Given the description of an element on the screen output the (x, y) to click on. 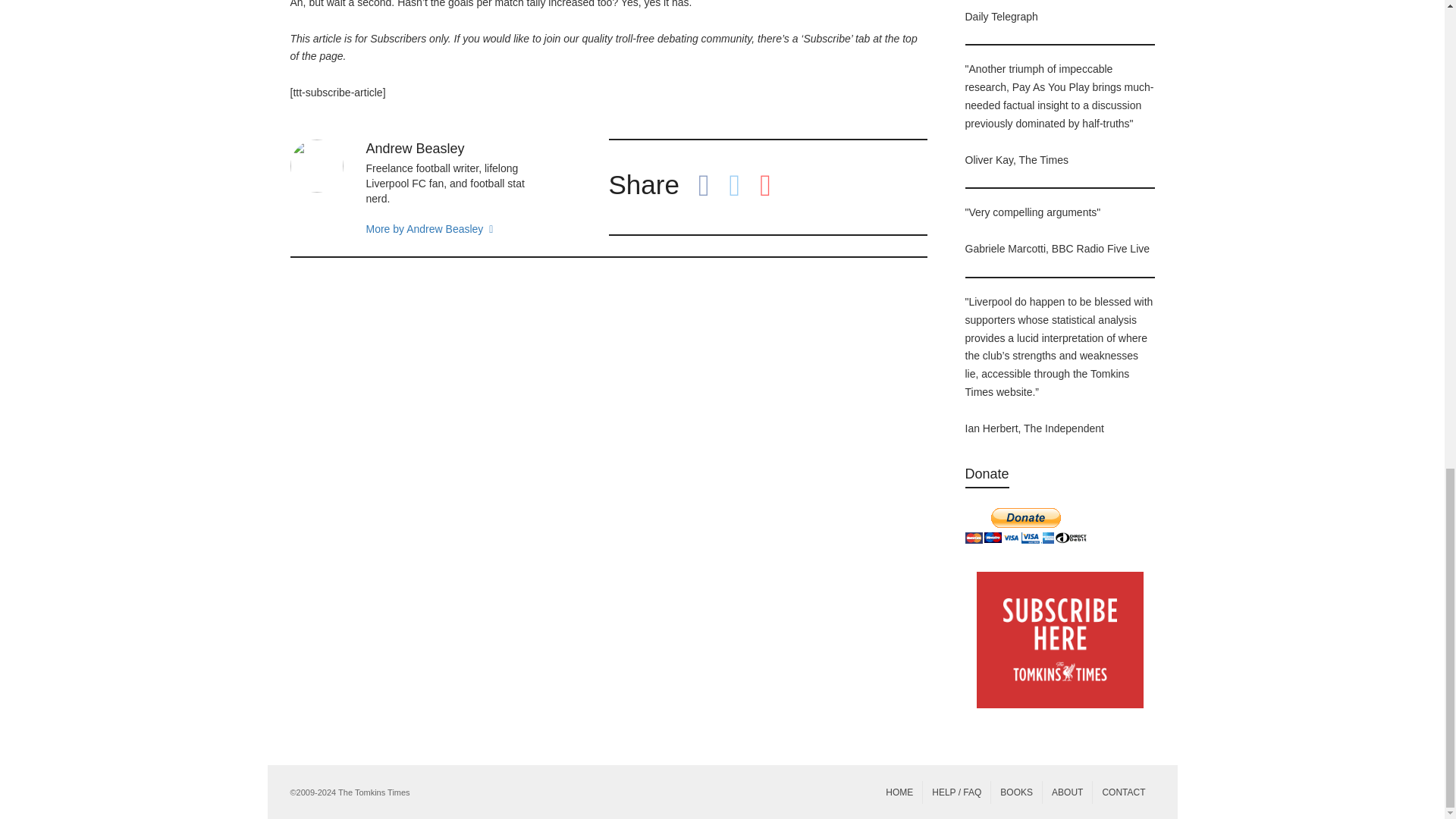
CONTACT (1123, 792)
HOME (898, 792)
More by Andrew Beasley (454, 229)
ABOUT (1067, 792)
BOOKS (1016, 792)
